Given the description of an element on the screen output the (x, y) to click on. 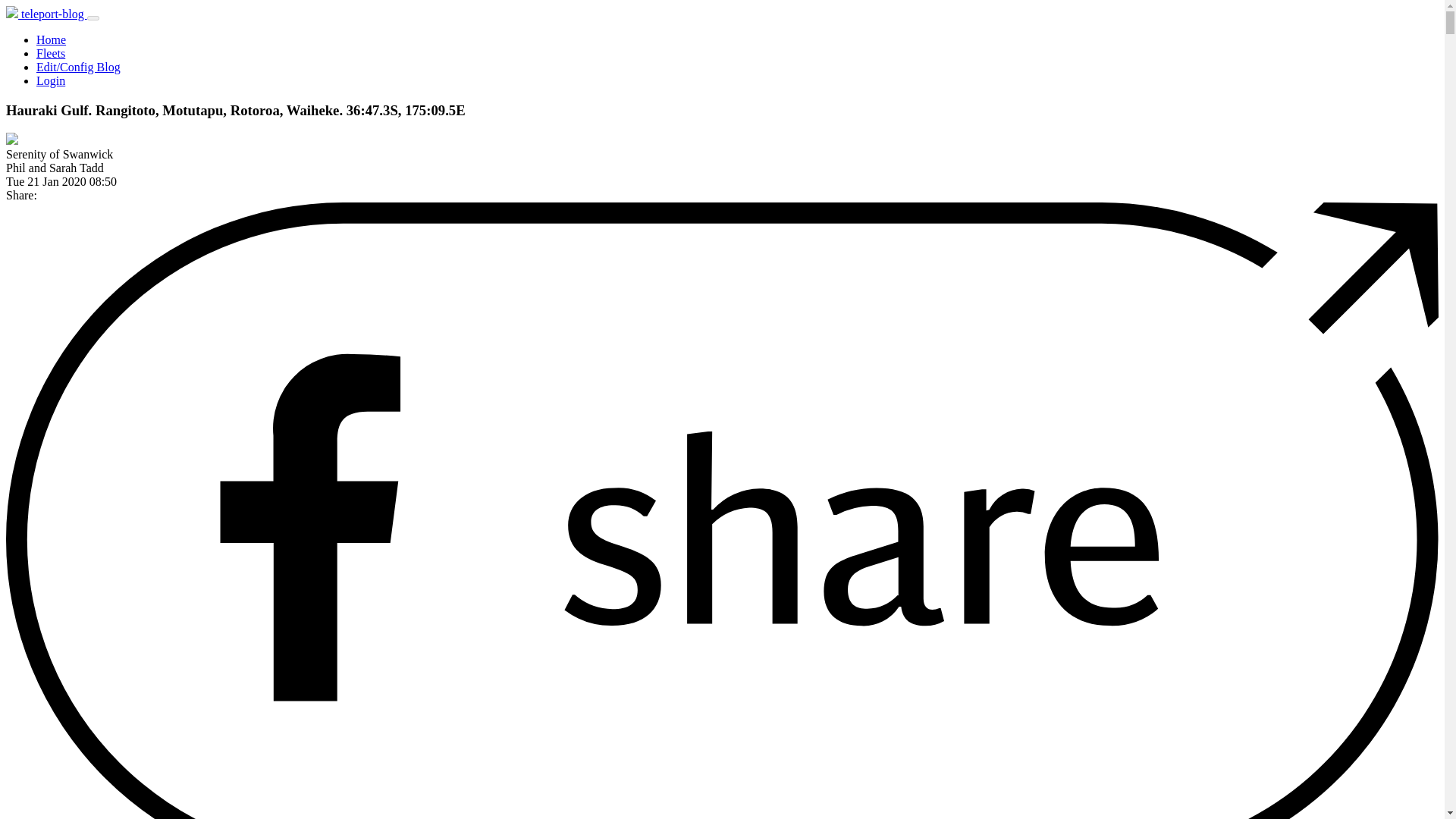
Home (50, 39)
Login (50, 80)
Fleets (50, 52)
teleport-blog (46, 13)
